Given the description of an element on the screen output the (x, y) to click on. 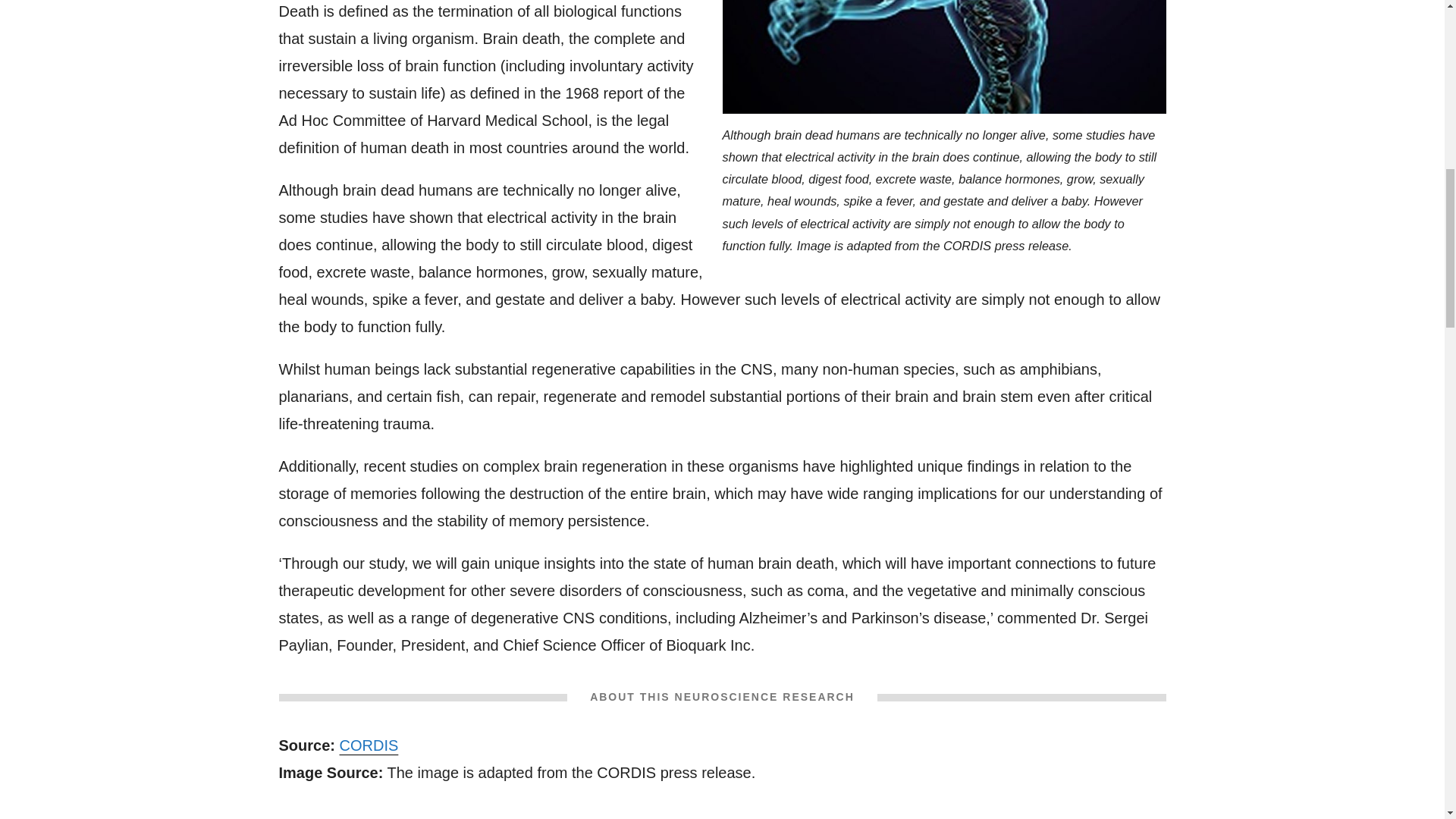
CORDIS (368, 745)
